Given the description of an element on the screen output the (x, y) to click on. 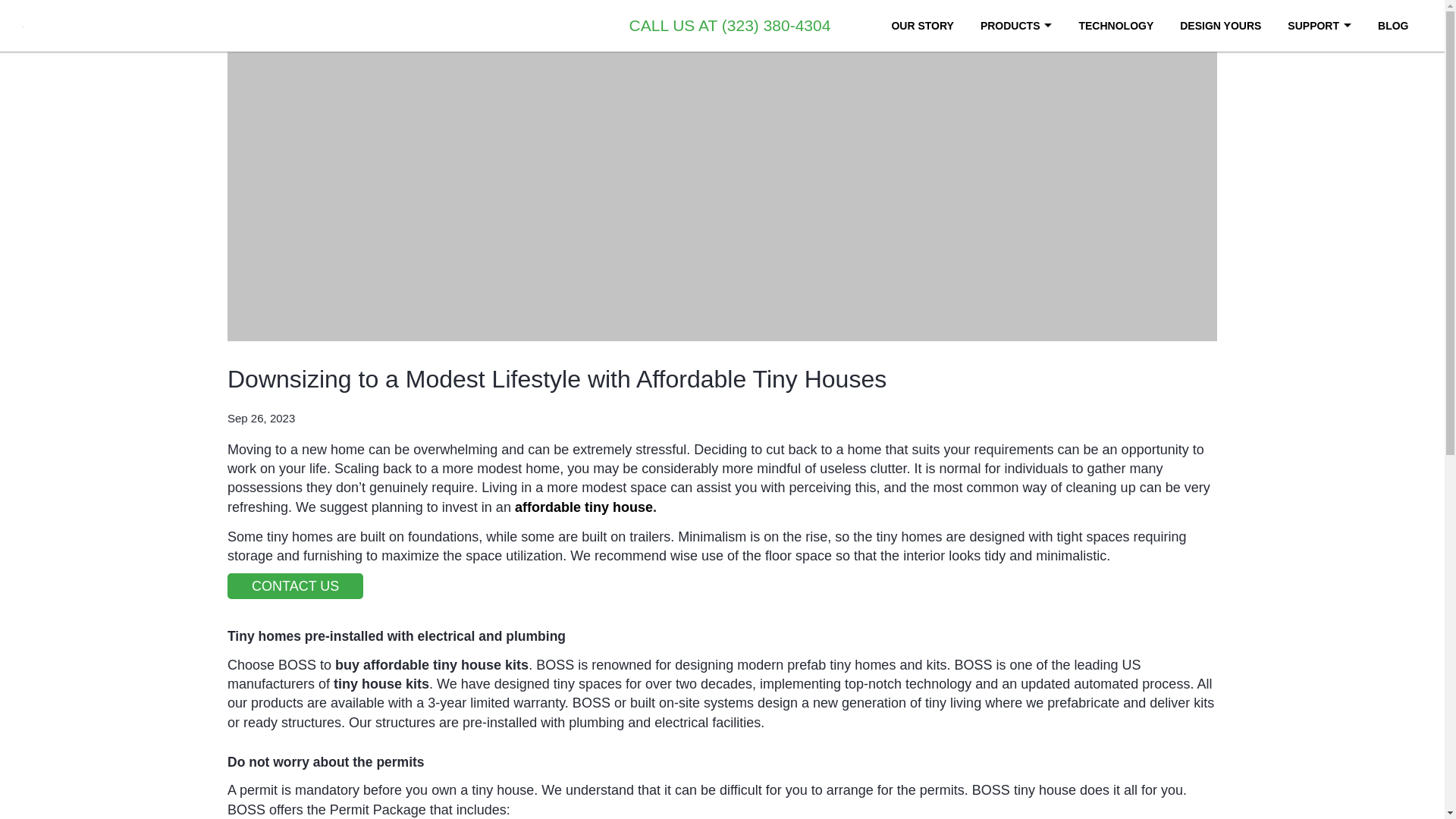
CONTACT US (294, 585)
TECHNOLOGY (1115, 25)
DESIGN YOURS (1219, 25)
 affordable tiny house (581, 507)
SUPPORT (1319, 25)
affordable tiny house (581, 507)
OUR STORY (922, 25)
PRODUCTS (1015, 25)
